Given the description of an element on the screen output the (x, y) to click on. 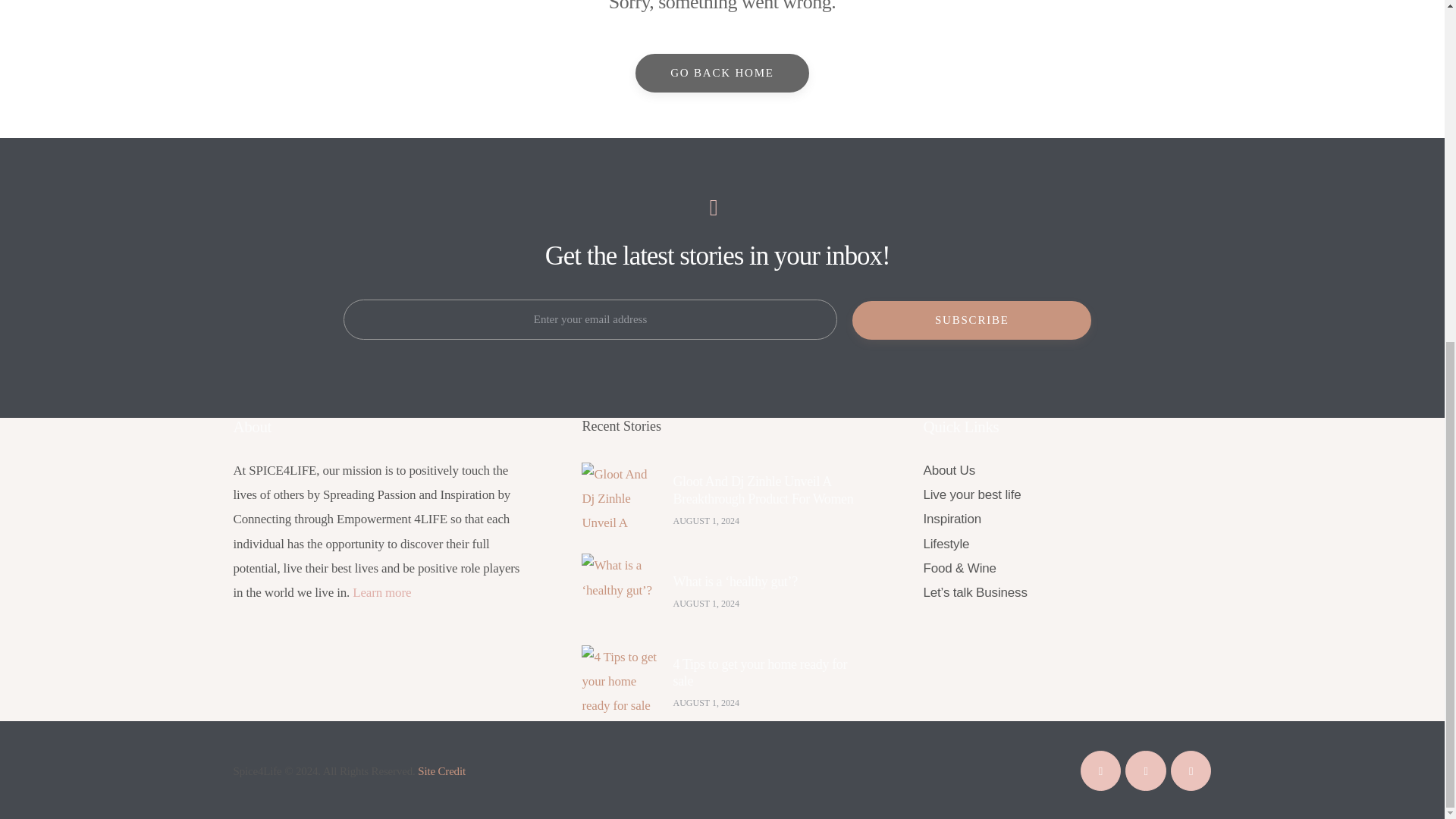
Subscribe (971, 320)
